Given the description of an element on the screen output the (x, y) to click on. 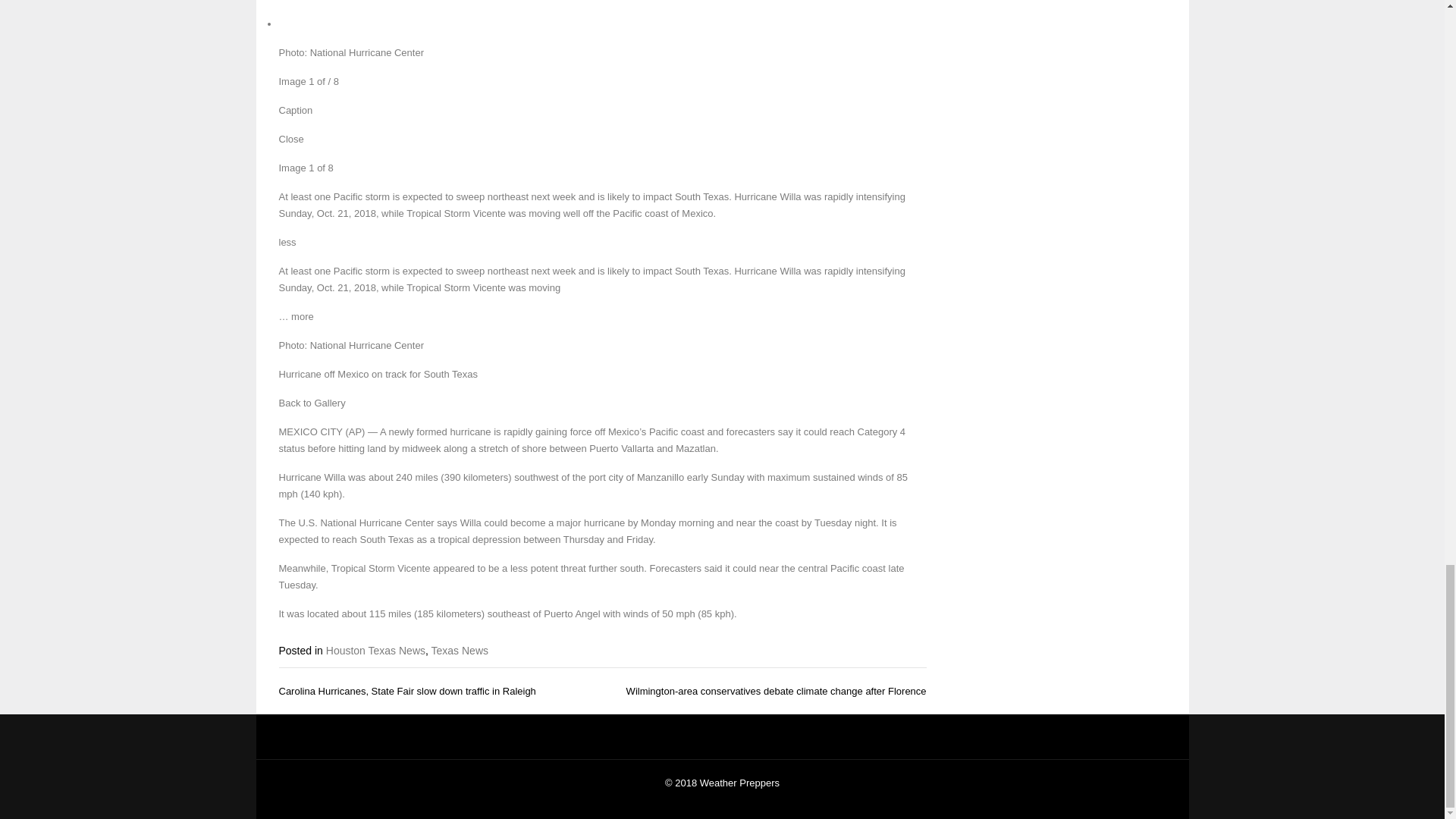
Carolina Hurricanes, State Fair slow down traffic in Raleigh (407, 690)
less (288, 242)
Houston Texas News (375, 650)
Texas News (458, 650)
